Given the description of an element on the screen output the (x, y) to click on. 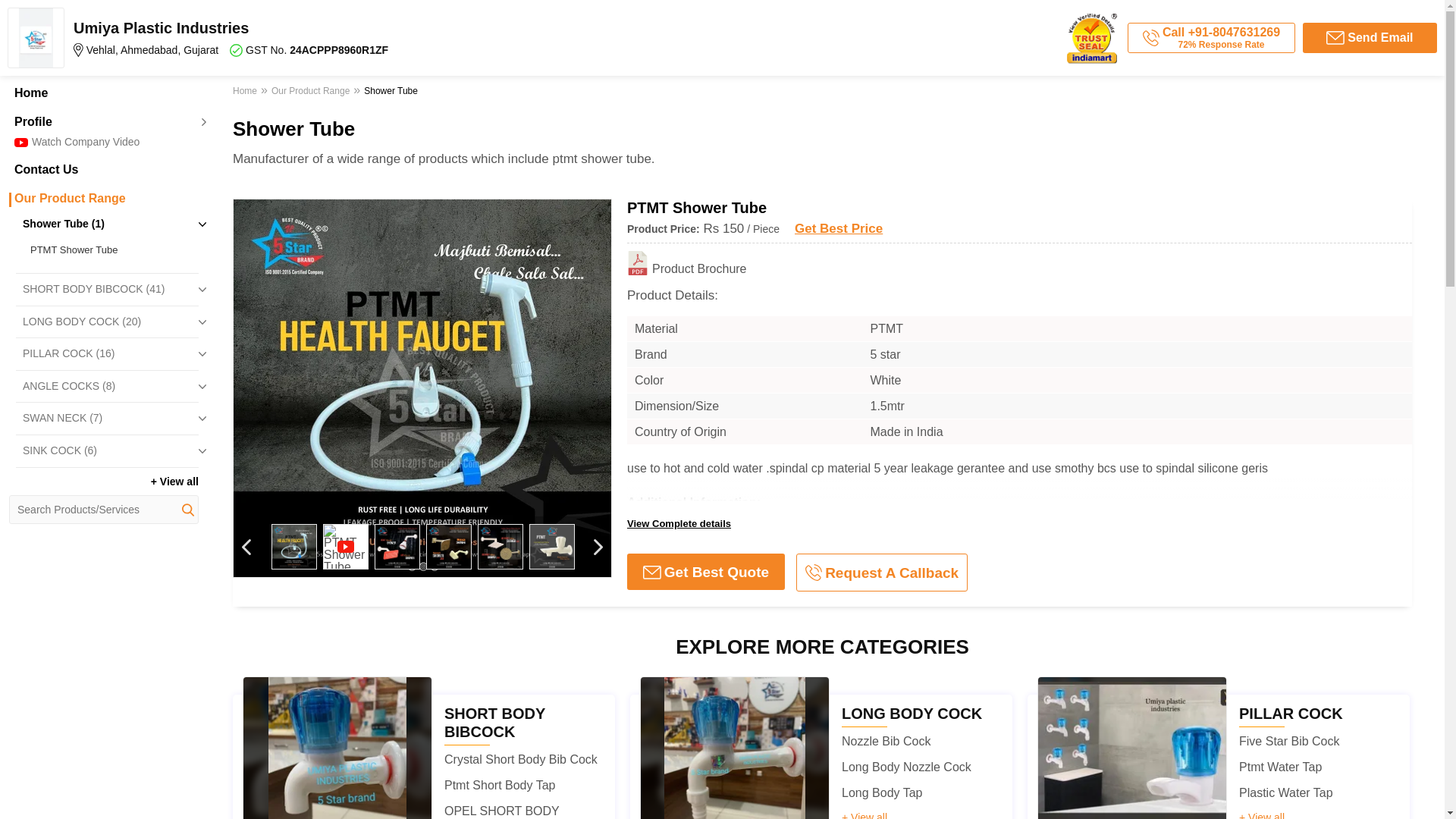
Profile (103, 121)
Our Product Range (103, 198)
Home (103, 92)
PTMT Shower Tube (110, 250)
Contact Us (103, 169)
